Given the description of an element on the screen output the (x, y) to click on. 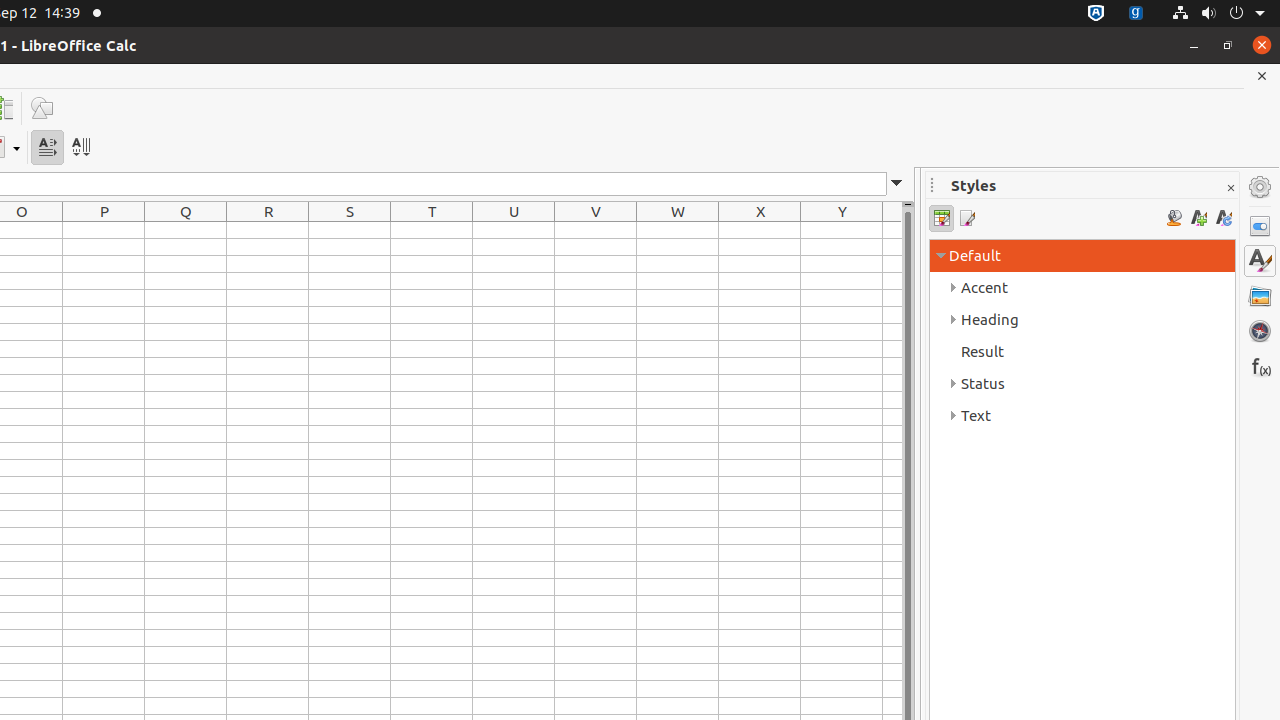
Styles Element type: radio-button (1260, 261)
W1 Element type: table-cell (678, 230)
Fill Format Mode Element type: push-button (1173, 218)
Gallery Element type: radio-button (1260, 296)
:1.72/StatusNotifierItem Element type: menu (1096, 13)
